Given the description of an element on the screen output the (x, y) to click on. 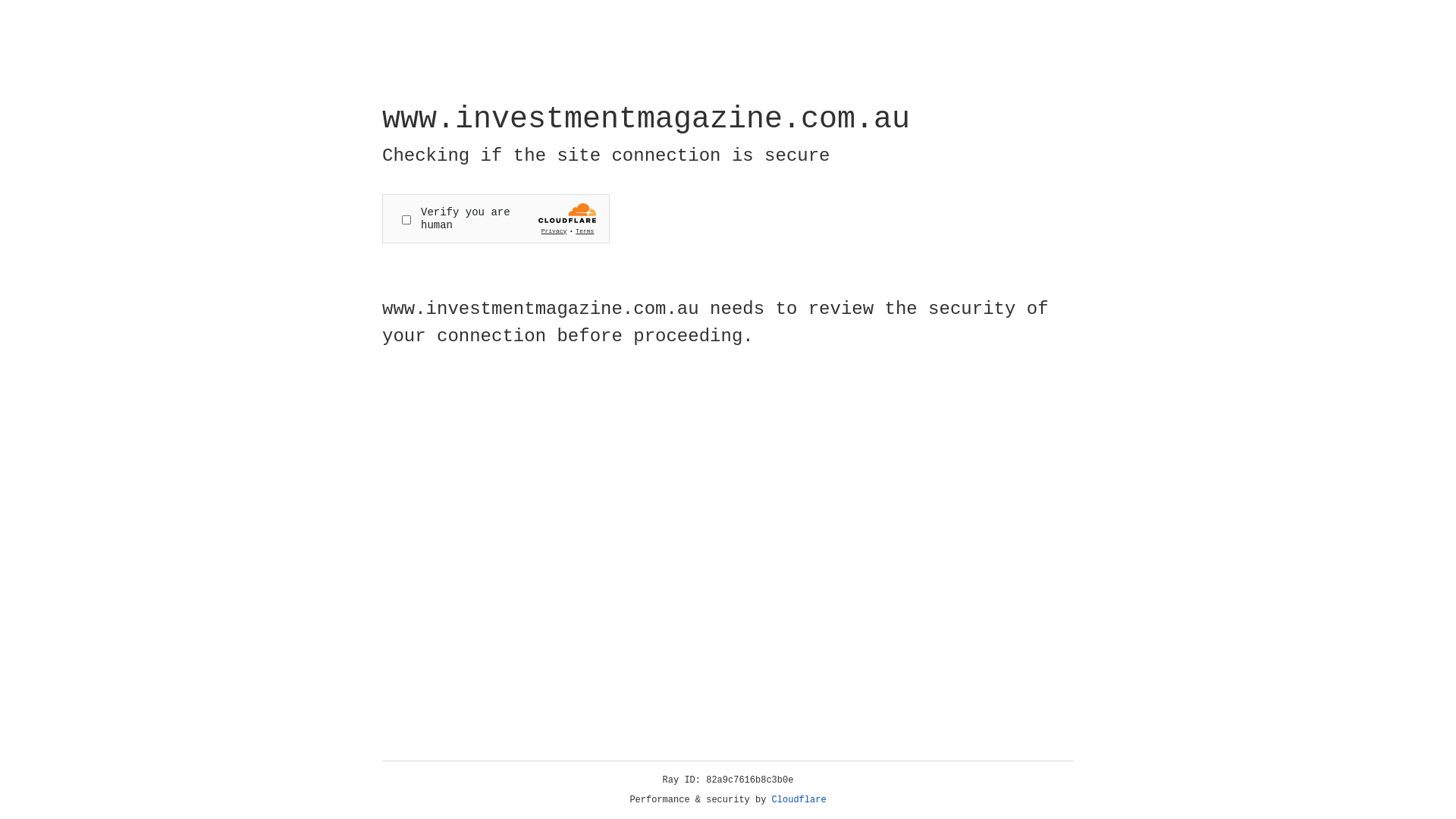
Cloudflare Element type: text (798, 799)
Widget containing a Cloudflare security challenge Element type: hover (495, 218)
